Given the description of an element on the screen output the (x, y) to click on. 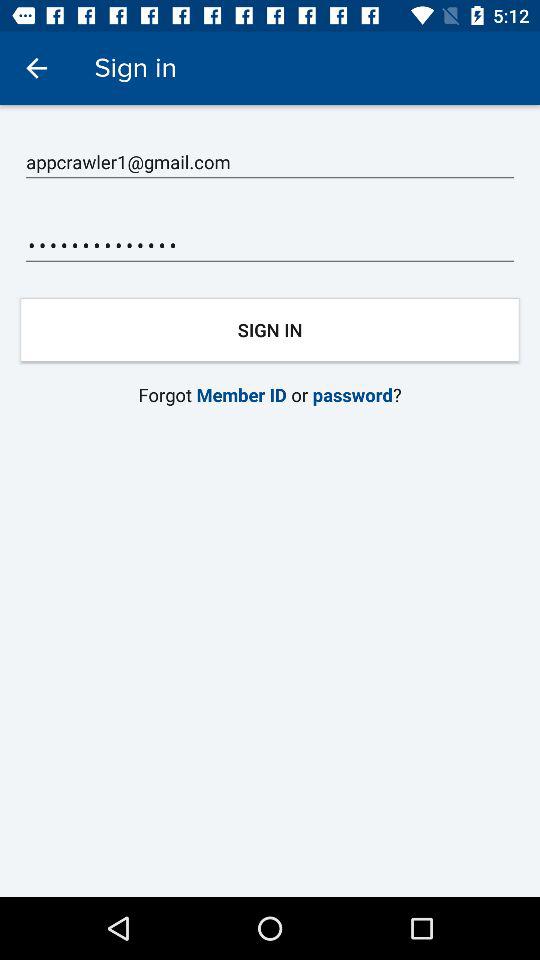
turn off icon above sign in icon (270, 246)
